Given the description of an element on the screen output the (x, y) to click on. 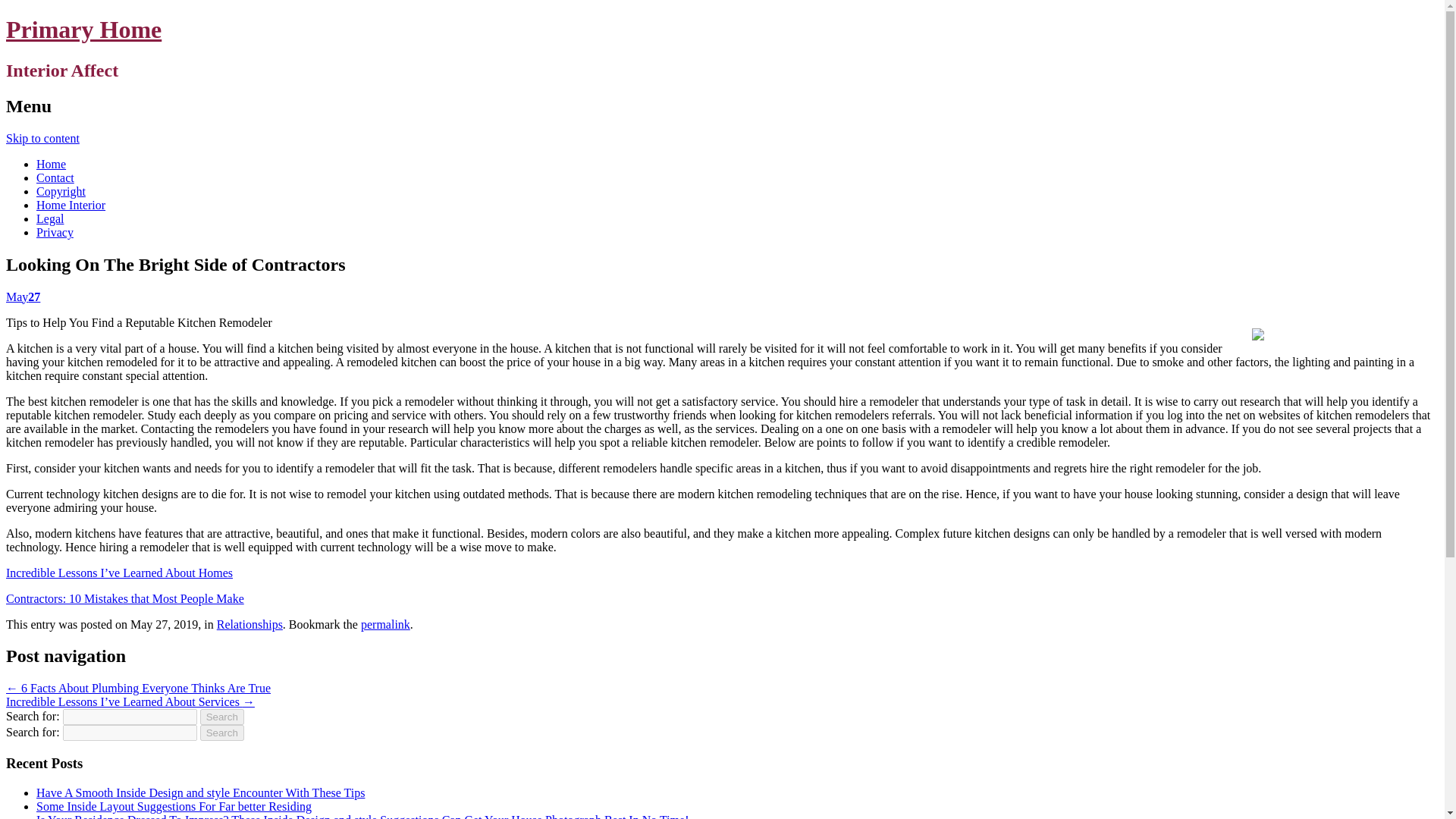
Search (222, 716)
Copyright (60, 191)
Primary Home (83, 29)
Contractors: 10 Mistakes that Most People Make (124, 597)
Skip to content (42, 137)
Privacy (55, 232)
Home Interior (70, 205)
Search (222, 732)
Home (50, 164)
Contact (55, 177)
May 27, 2019 (22, 295)
Some Inside Layout Suggestions For Far better Residing (173, 806)
Permalink to Looking On The Bright Side of Contractors (385, 623)
